Given the description of an element on the screen output the (x, y) to click on. 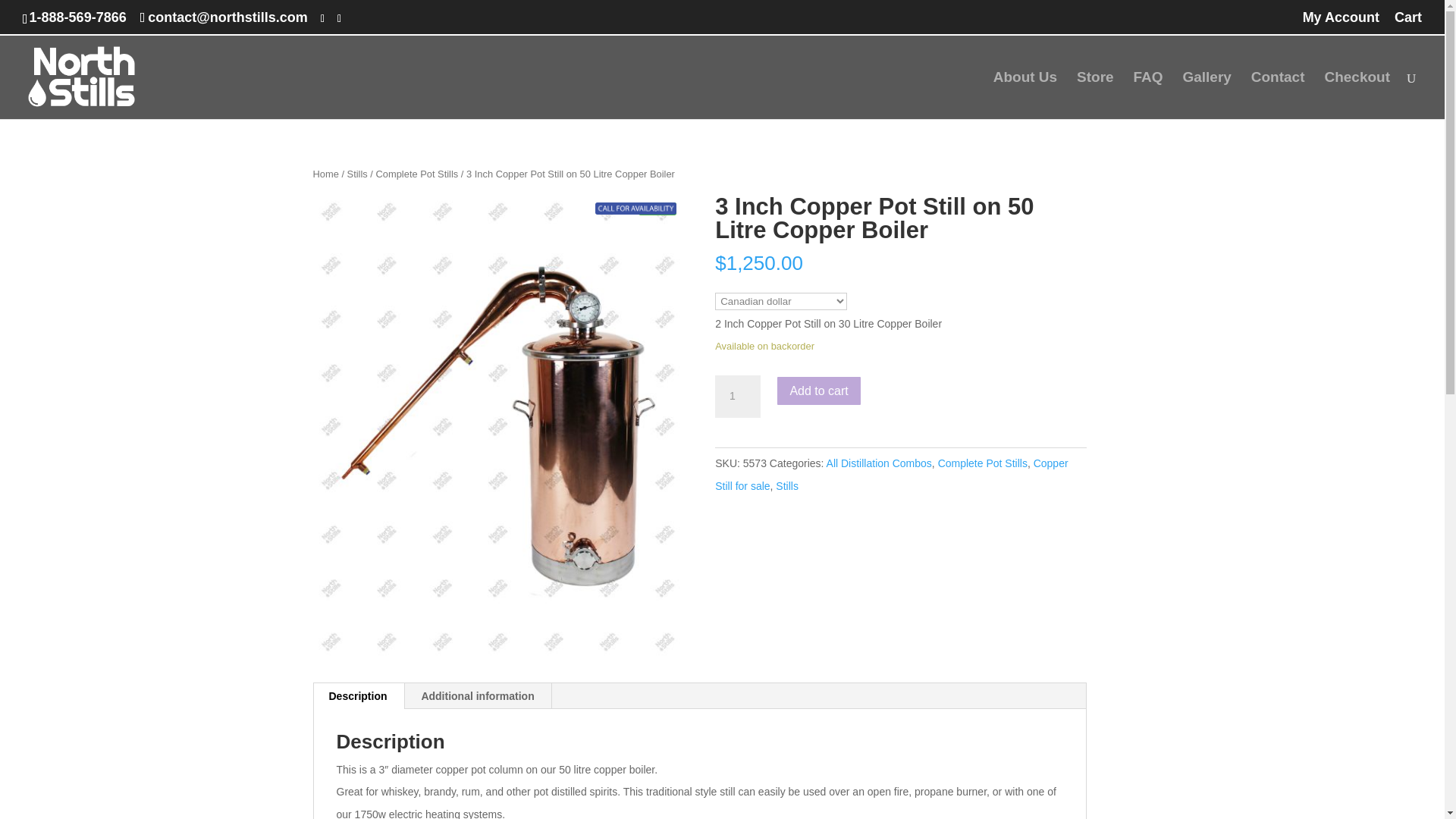
1 (737, 396)
Cart (1408, 22)
Checkout (1356, 95)
Contact (1277, 95)
Complete Pot Stills (982, 463)
Add to cart (818, 390)
Home (325, 173)
Copper Still for sale (890, 474)
Gallery (1206, 95)
Complete Pot Stills (416, 173)
All Distillation Combos (879, 463)
Stills (786, 485)
Description (358, 696)
My Account (1340, 22)
Stills (357, 173)
